Given the description of an element on the screen output the (x, y) to click on. 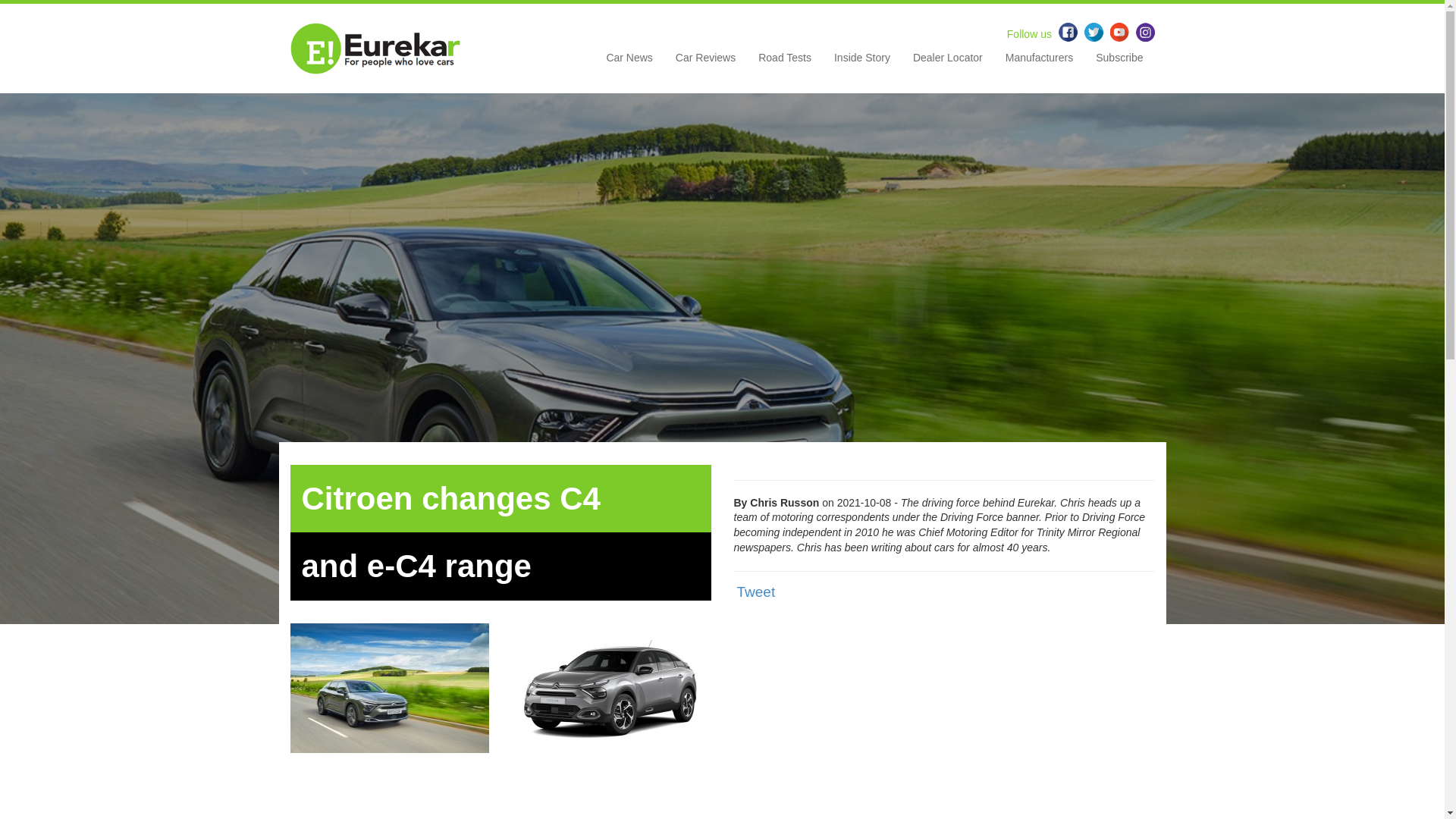
Car News (628, 62)
Inside Story (861, 62)
Manufacturers (1039, 62)
Subscribe (1119, 62)
Citroen e-C4, 2021, front (389, 687)
Road Tests (784, 62)
Citroen C4, 2021, front (611, 687)
Tweet (756, 591)
Advertisement (721, 797)
Car Reviews (704, 62)
Dealer Locator (947, 62)
